Given the description of an element on the screen output the (x, y) to click on. 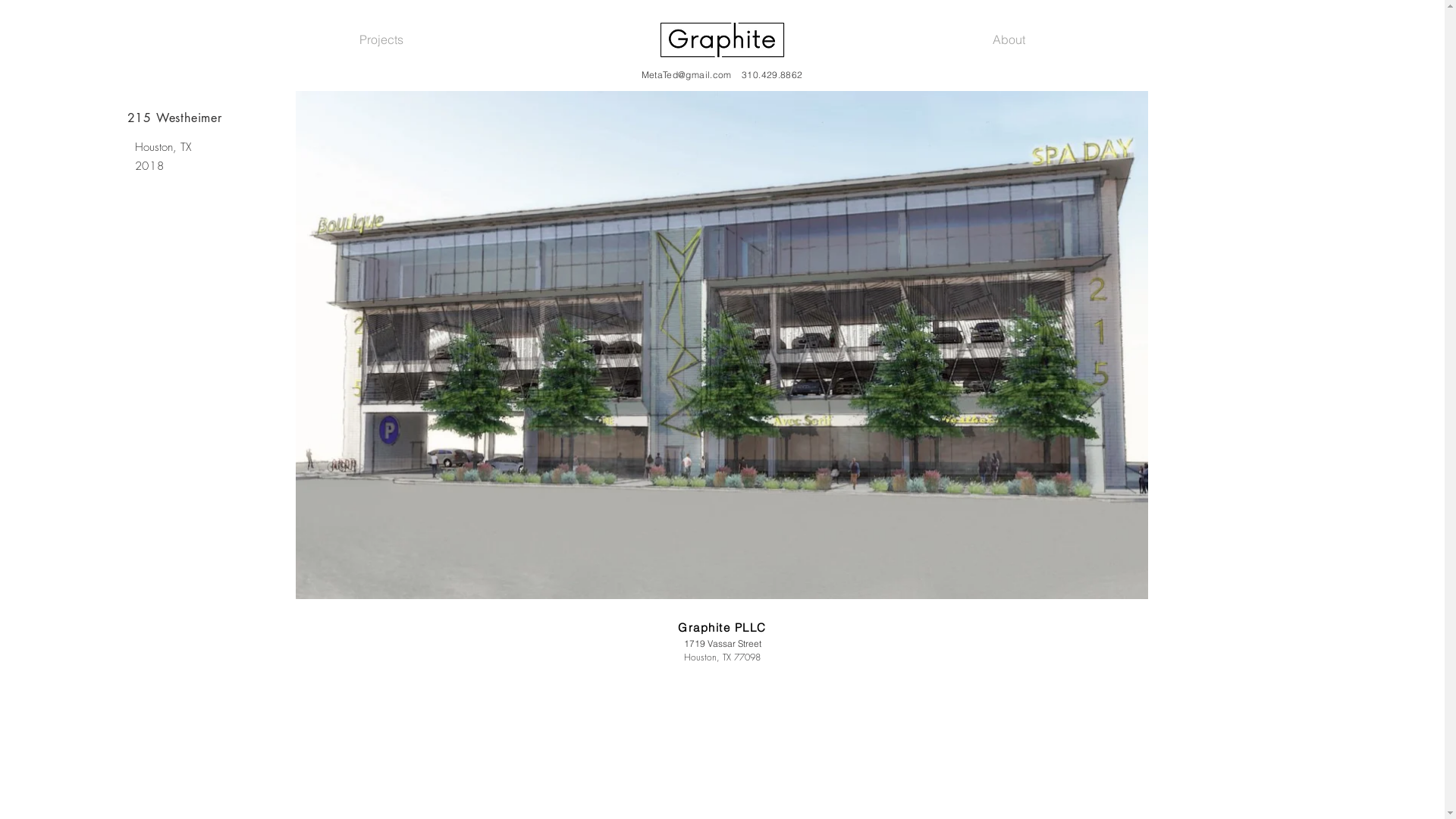
About Element type: text (1007, 39)
Projects Element type: text (381, 39)
MetaTed@gmail.com Element type: text (686, 74)
